Given the description of an element on the screen output the (x, y) to click on. 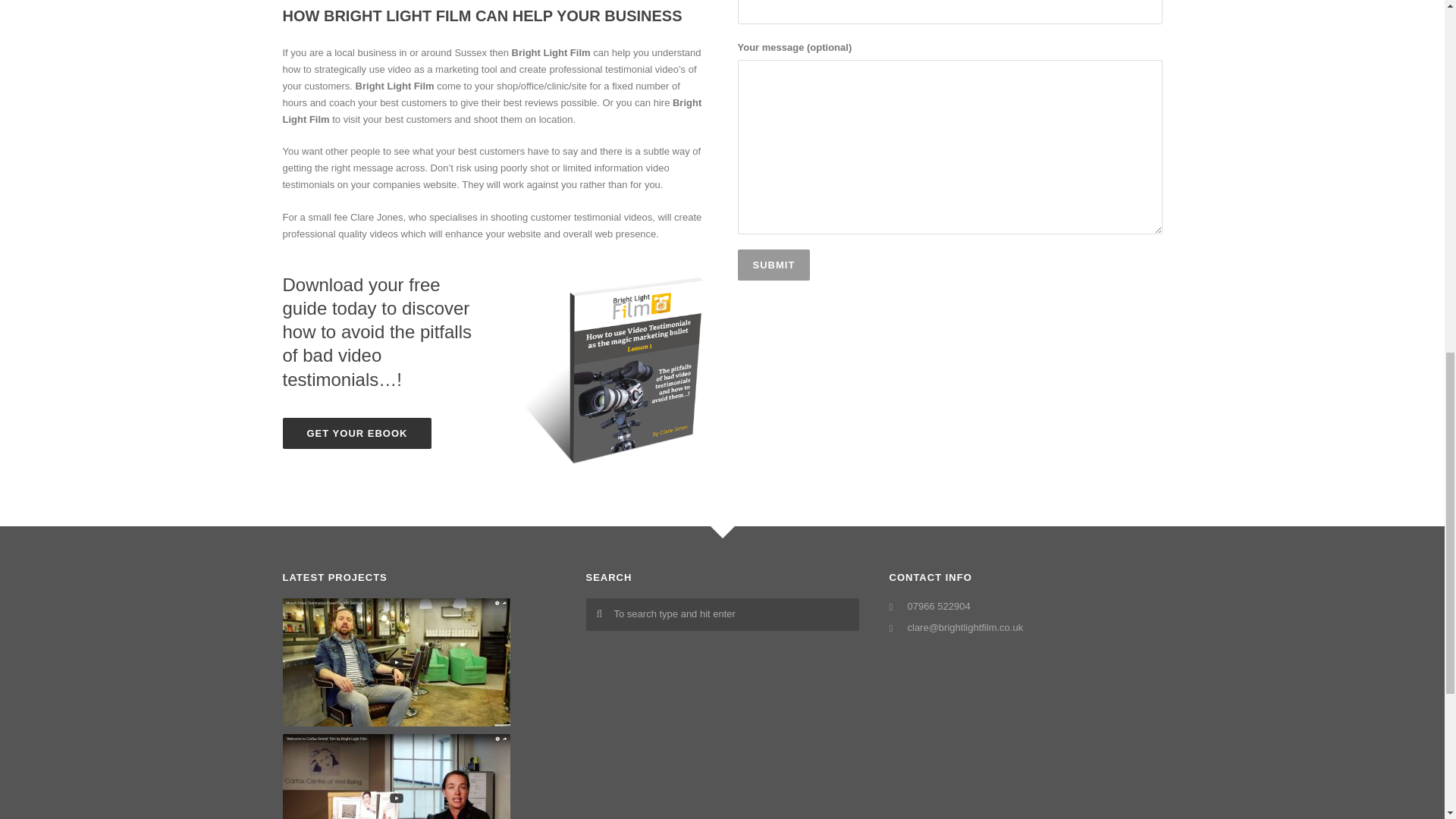
To search type and hit enter (722, 614)
Submit (772, 264)
